Given the description of an element on the screen output the (x, y) to click on. 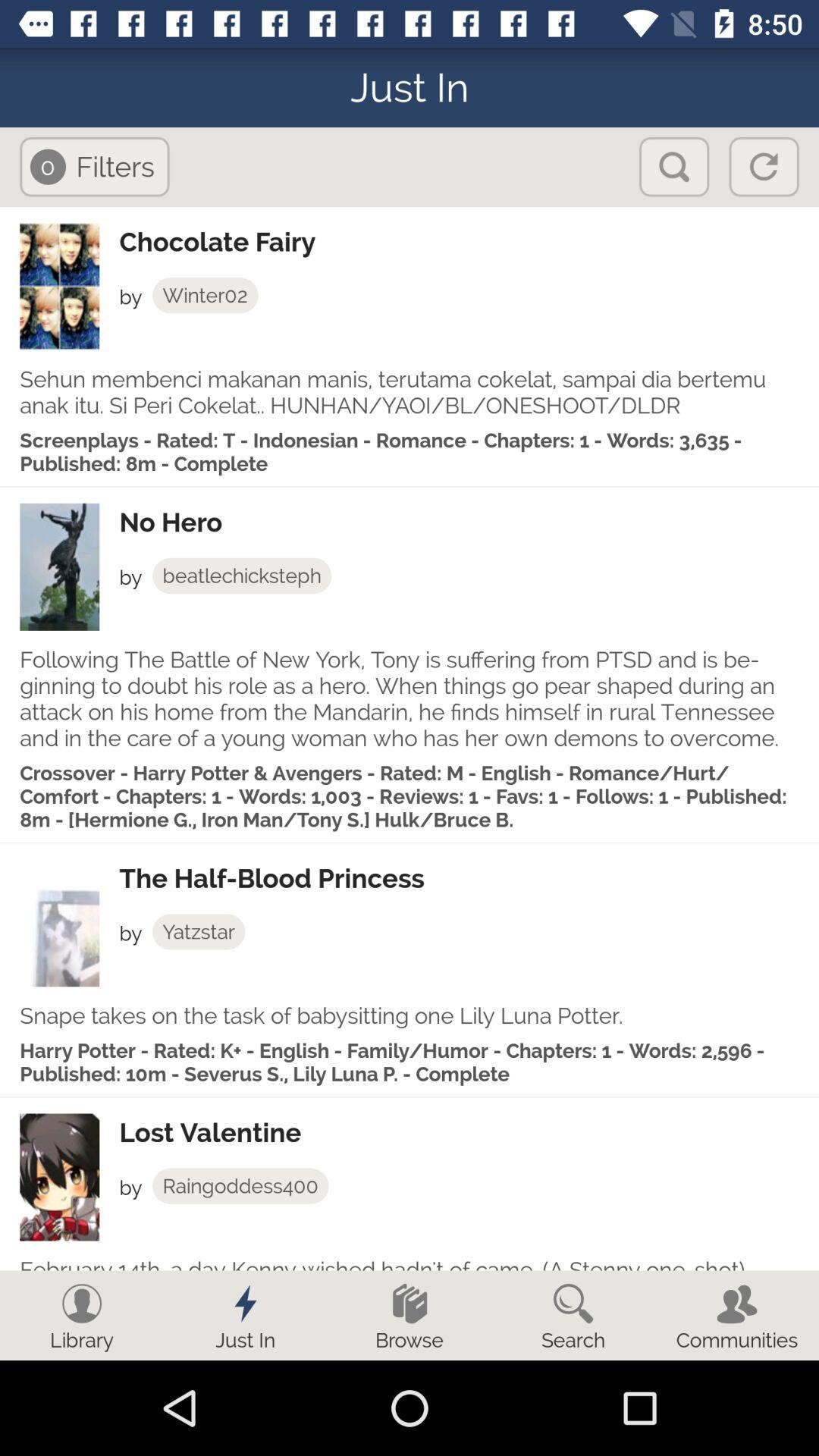
tap item next to by (198, 931)
